Given the description of an element on the screen output the (x, y) to click on. 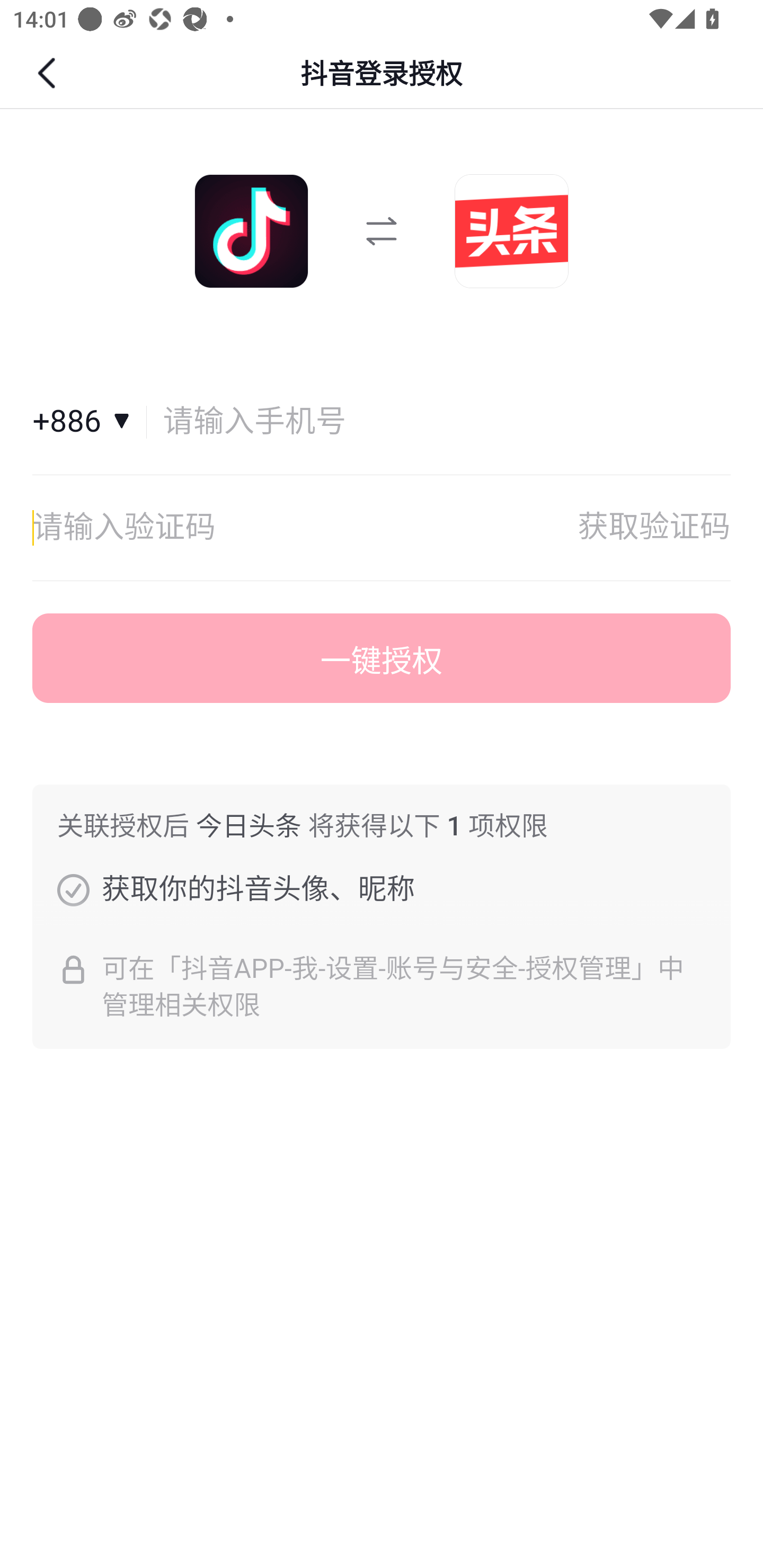
返回 (49, 72)
国家和地区+886 (90, 421)
获取验证码 (653, 527)
一键授权 (381, 658)
获取你的抖音头像、昵称 (72, 889)
